Given the description of an element on the screen output the (x, y) to click on. 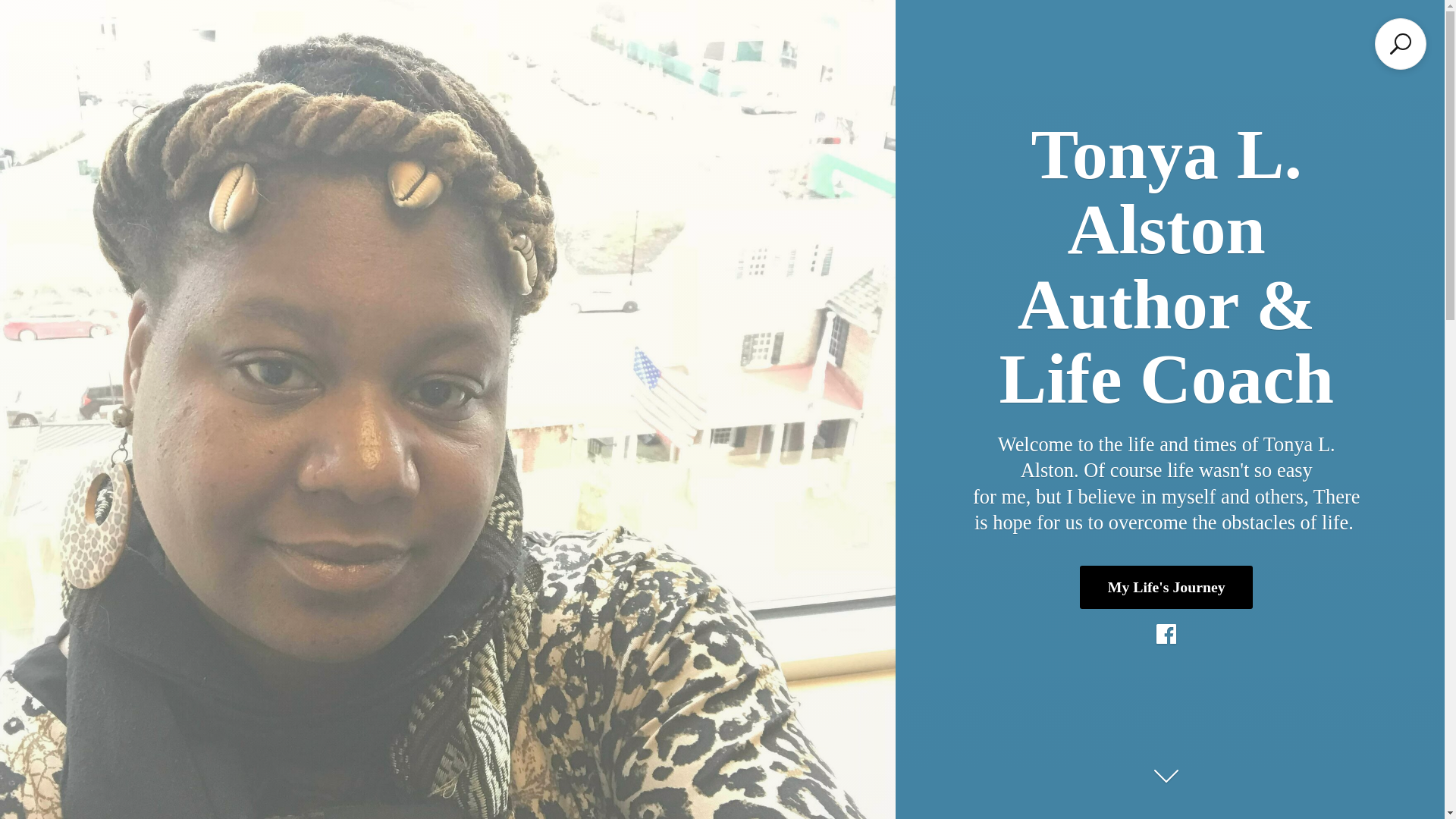
My Life's Journey (1166, 587)
